Given the description of an element on the screen output the (x, y) to click on. 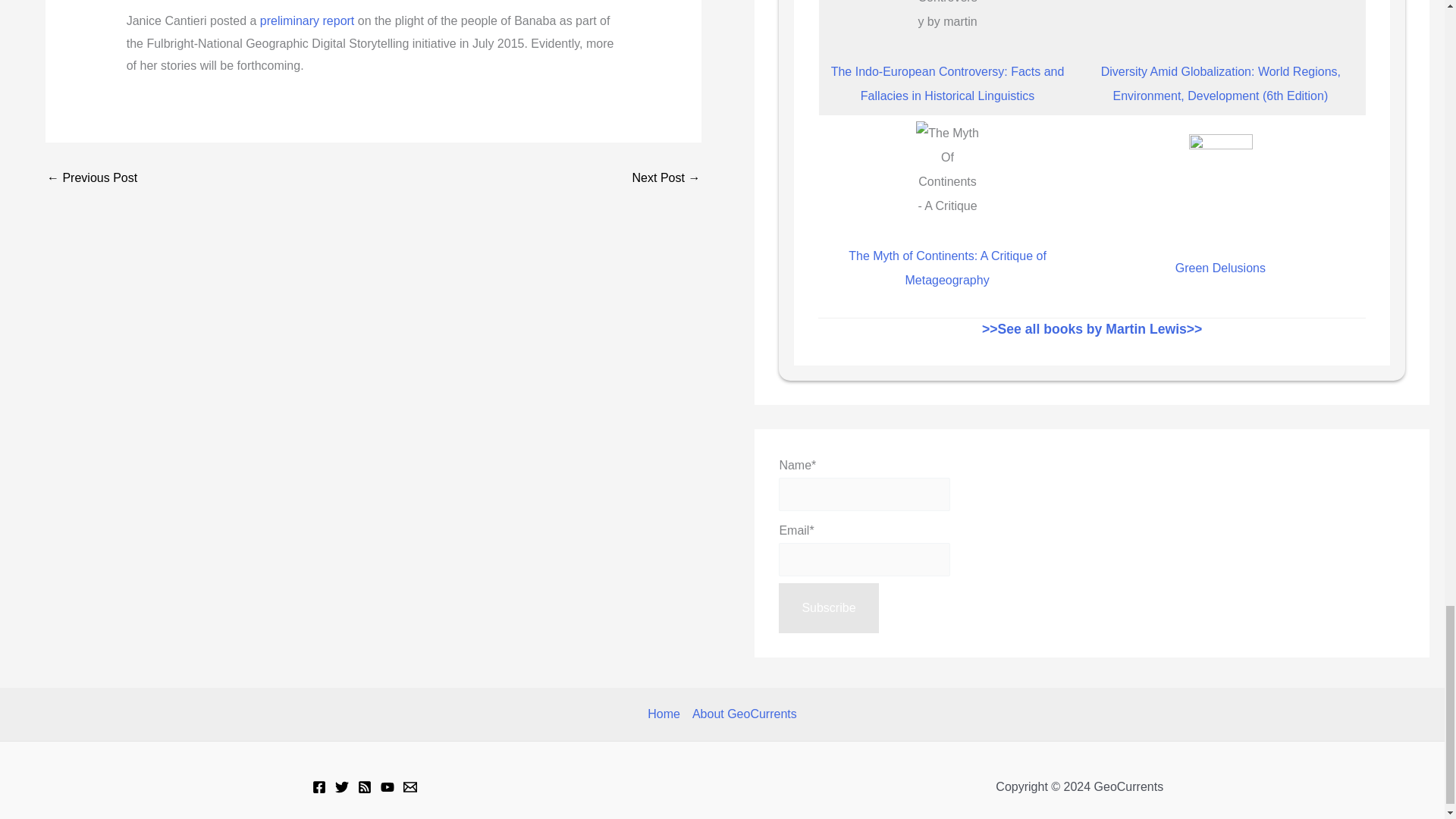
Indo-European-Controversy by Asya Pereltsvaig Martin Lewis (947, 18)
Subscribe (827, 608)
The Recent Gilbertese Settlement of the Line Islands (665, 177)
diversity amid globalization martin lewis (1220, 18)
